Given the description of an element on the screen output the (x, y) to click on. 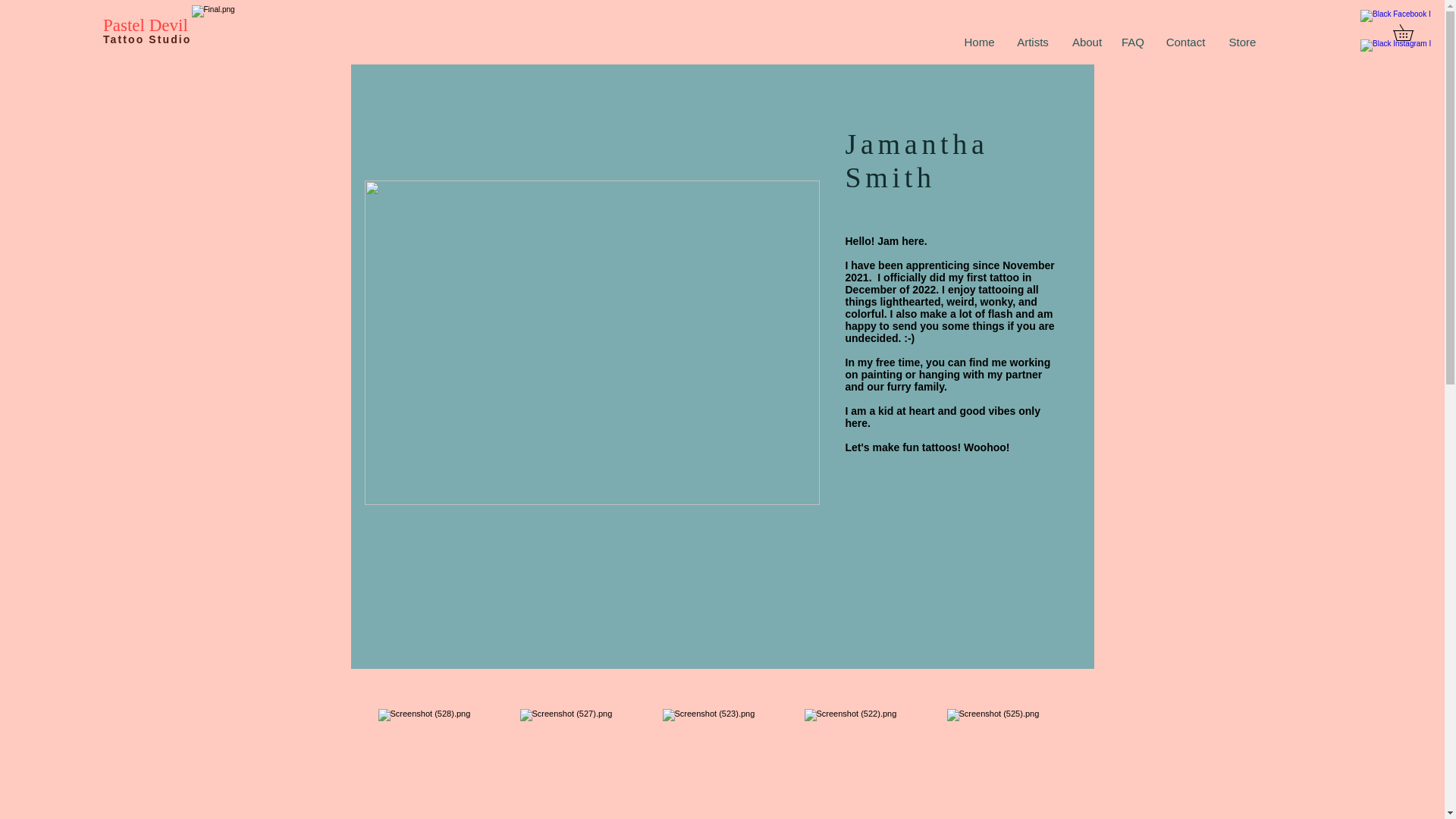
Contact (1185, 42)
FAQ (1133, 42)
Home (978, 42)
Tattoo Studio  (149, 39)
Store (1242, 42)
Pastel Devil (145, 25)
About (1087, 42)
